Given the description of an element on the screen output the (x, y) to click on. 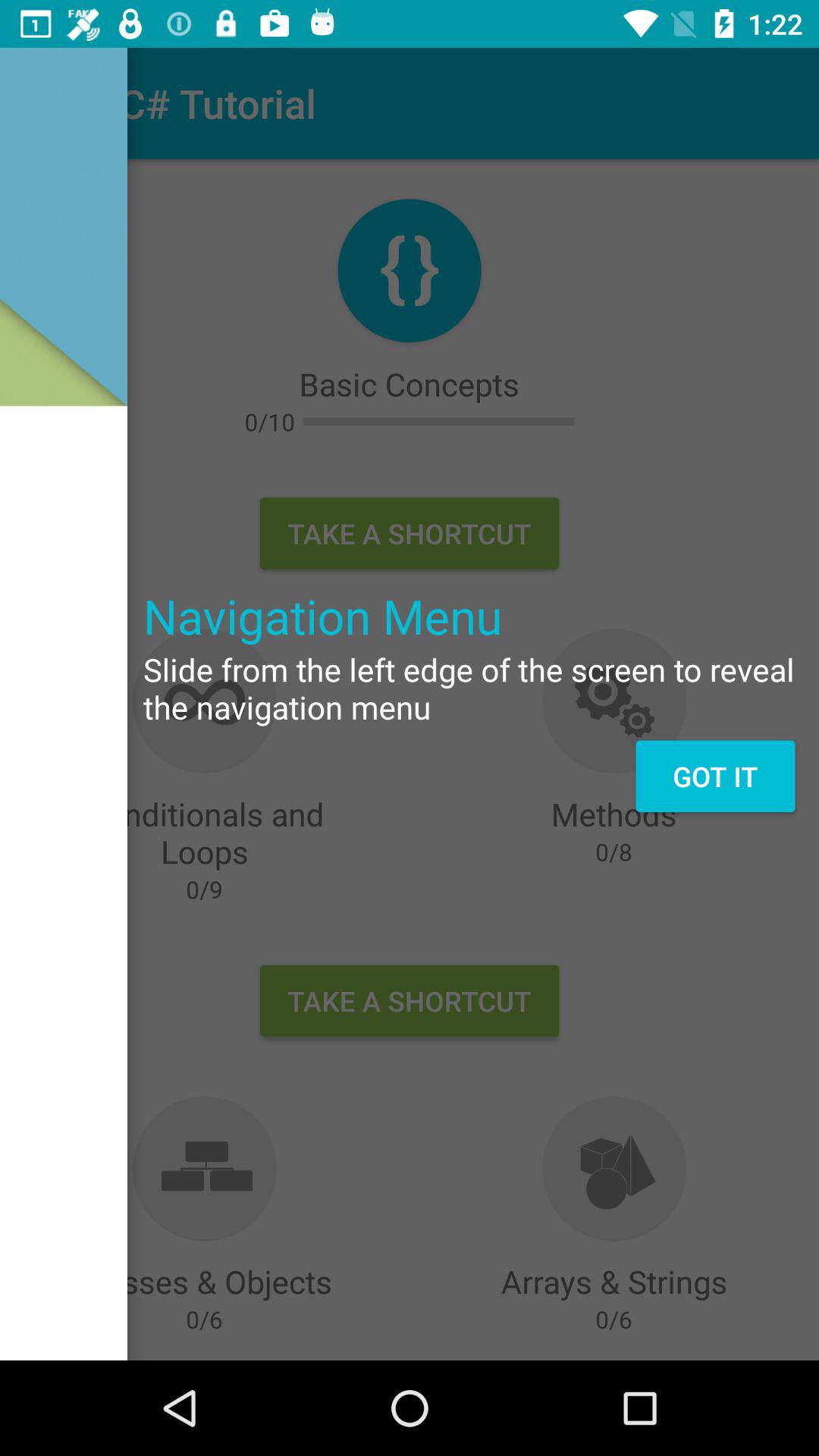
tap the got it on the right (715, 776)
